Given the description of an element on the screen output the (x, y) to click on. 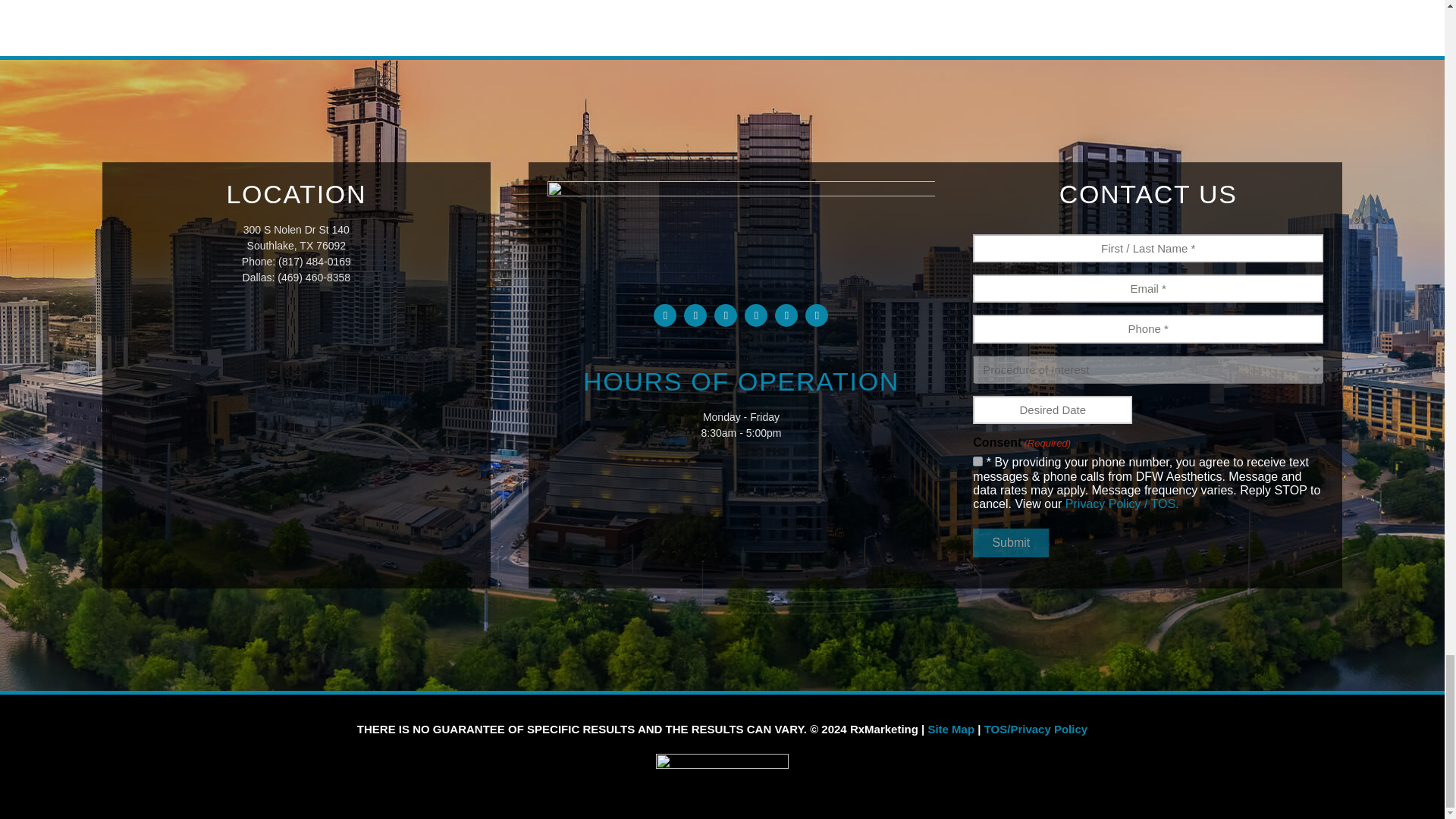
Privacy Policy (1122, 503)
1 (977, 461)
Submit (1010, 542)
